Given the description of an element on the screen output the (x, y) to click on. 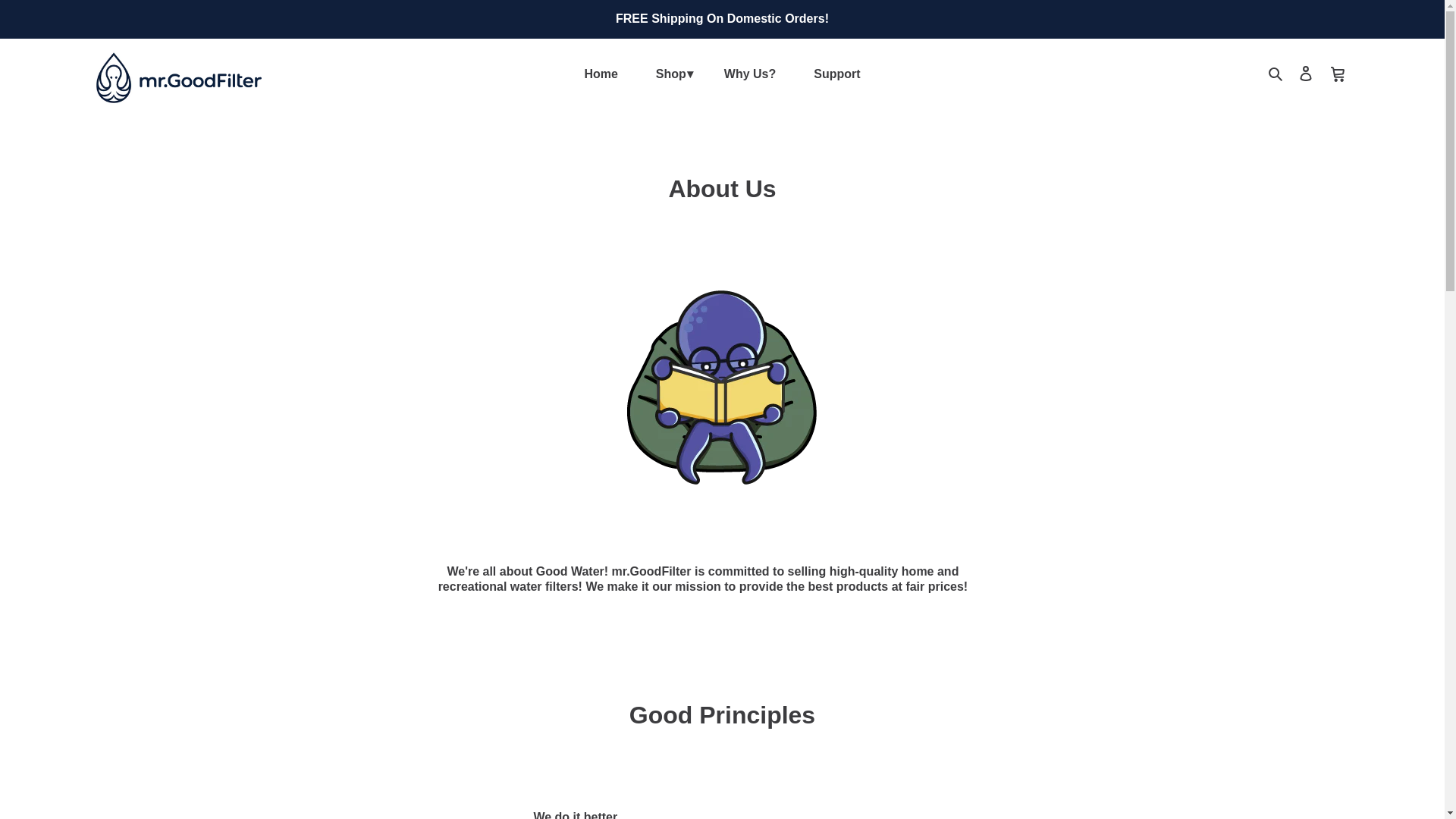
Support (836, 73)
Shop (670, 73)
FREE Shipping On Domestic Orders! (721, 18)
Home (600, 73)
Search (1276, 72)
Log in (1306, 72)
Why Us? (749, 73)
